Given the description of an element on the screen output the (x, y) to click on. 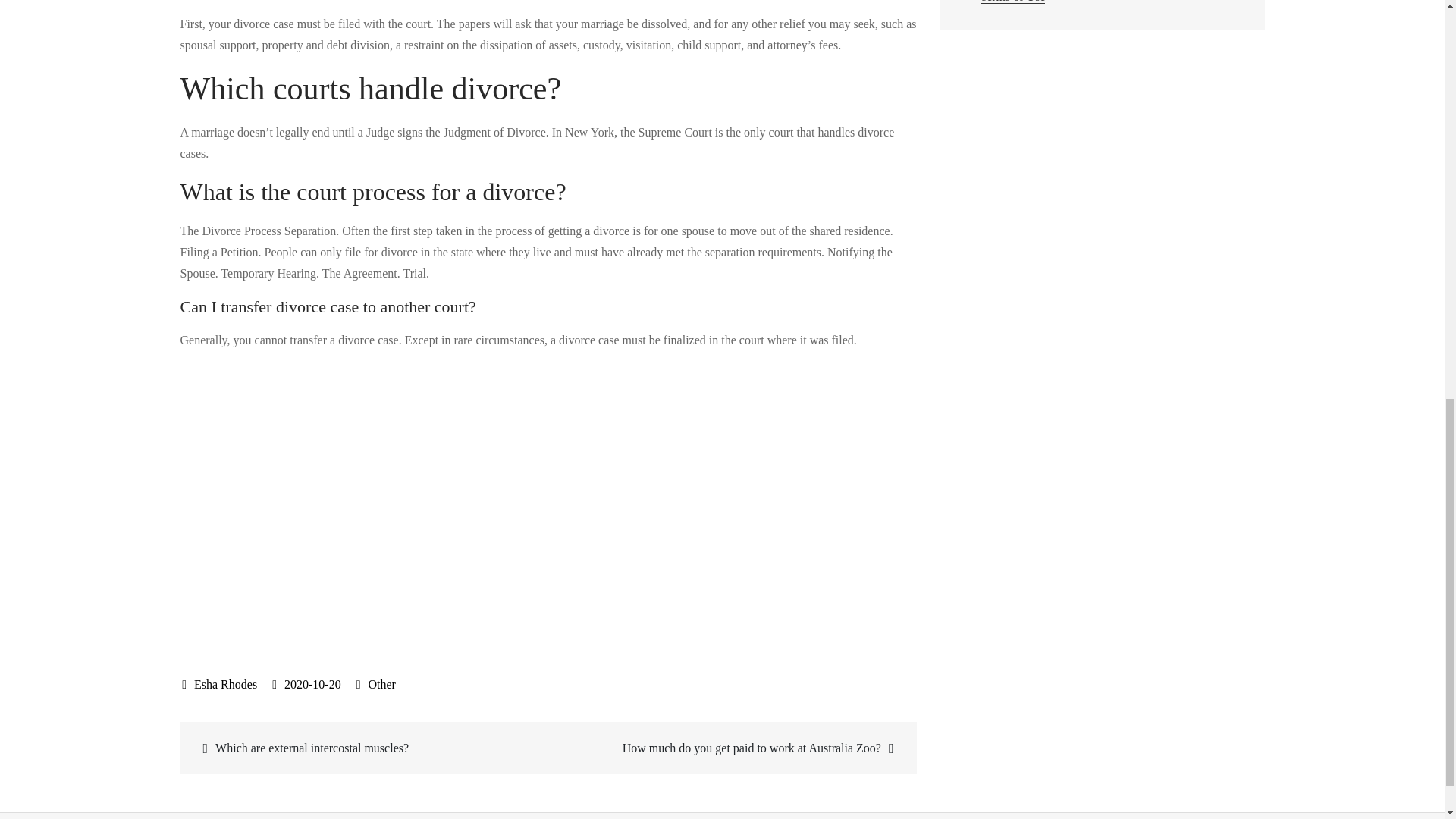
How much do you get paid to work at Australia Zoo? (730, 748)
Esha Rhodes (219, 684)
Filing California Divorce Forms: Form 1 of 10 the FL-100 (422, 499)
2020-10-20 (306, 684)
Which are external intercostal muscles? (366, 748)
Other (381, 684)
Terms of Use (1012, 2)
